Given the description of an element on the screen output the (x, y) to click on. 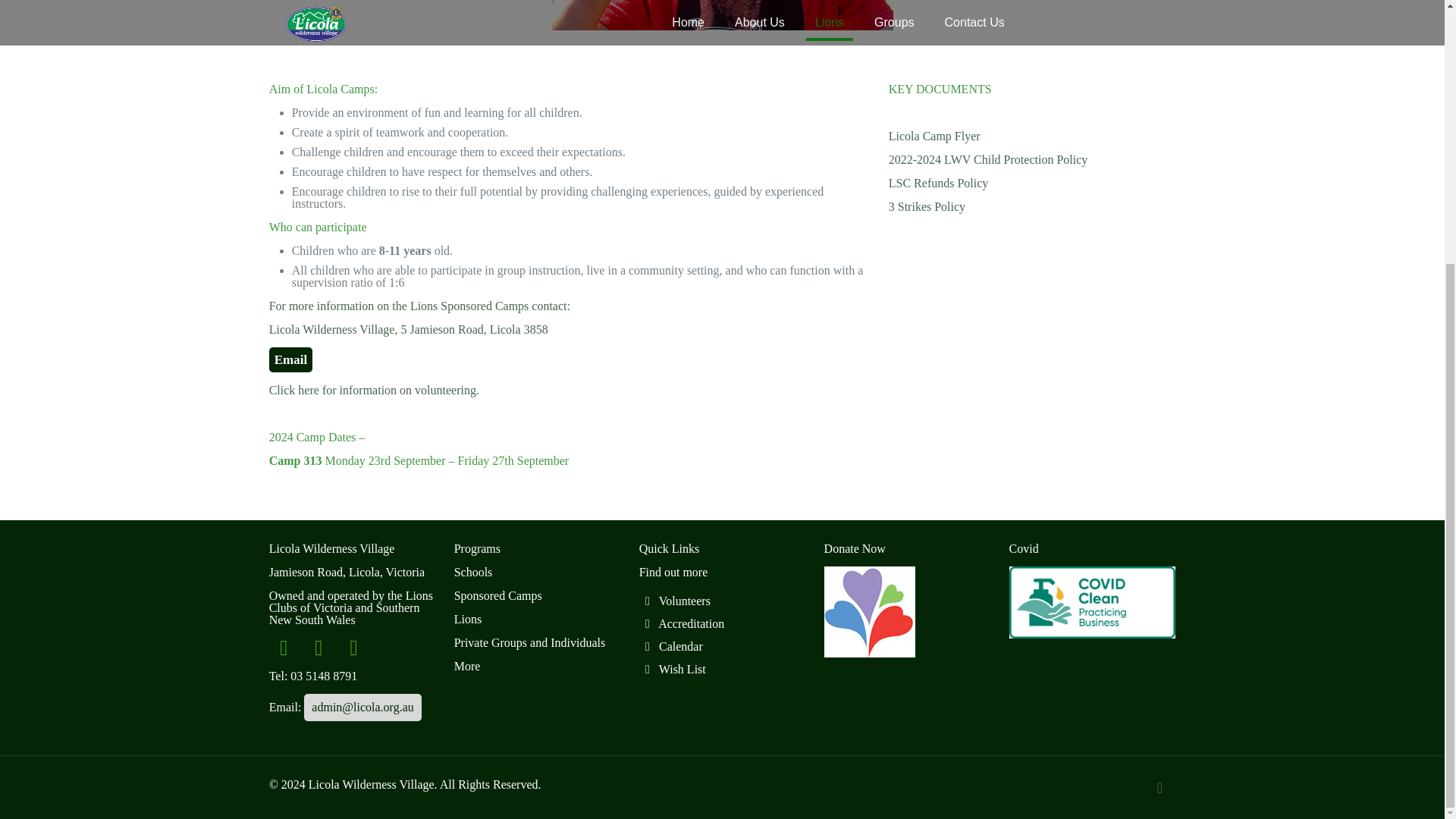
3 Strikes Policy (926, 205)
2022-2024 LWV Child Protection Policy (987, 159)
Licola Camp Flyer (933, 135)
LSC Refunds Policy (938, 182)
Click here (293, 390)
Email (291, 359)
